Given the description of an element on the screen output the (x, y) to click on. 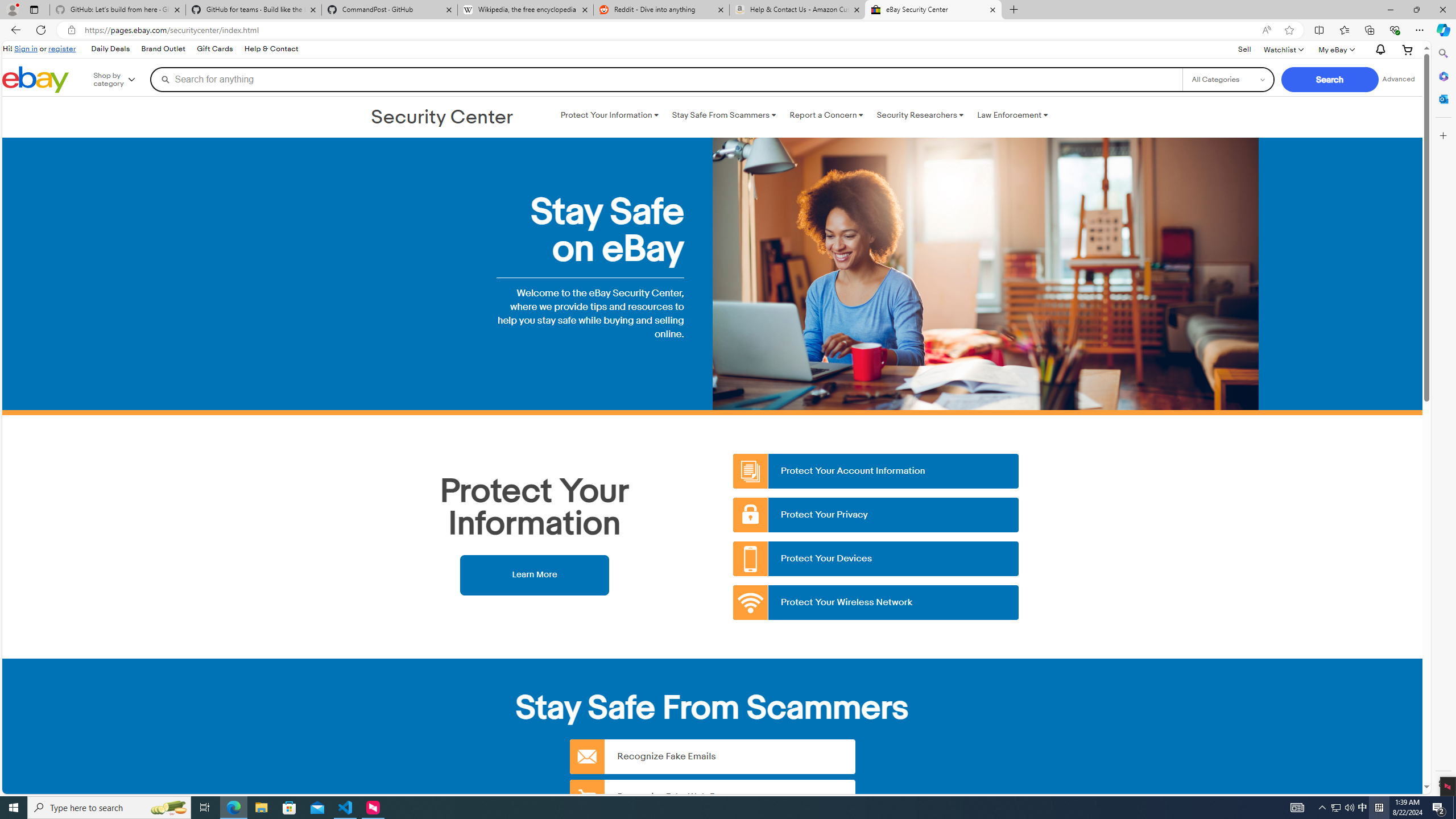
Recognize Fake Web Pages (712, 796)
Help & Contact (270, 49)
Protect Your Wireless Network (876, 602)
Recognize Fake Emails (712, 756)
Brand Outlet (163, 49)
Security Researchers  (919, 115)
Stay Safe From Scammers  (723, 115)
Protect Your Account Information (876, 470)
